Given the description of an element on the screen output the (x, y) to click on. 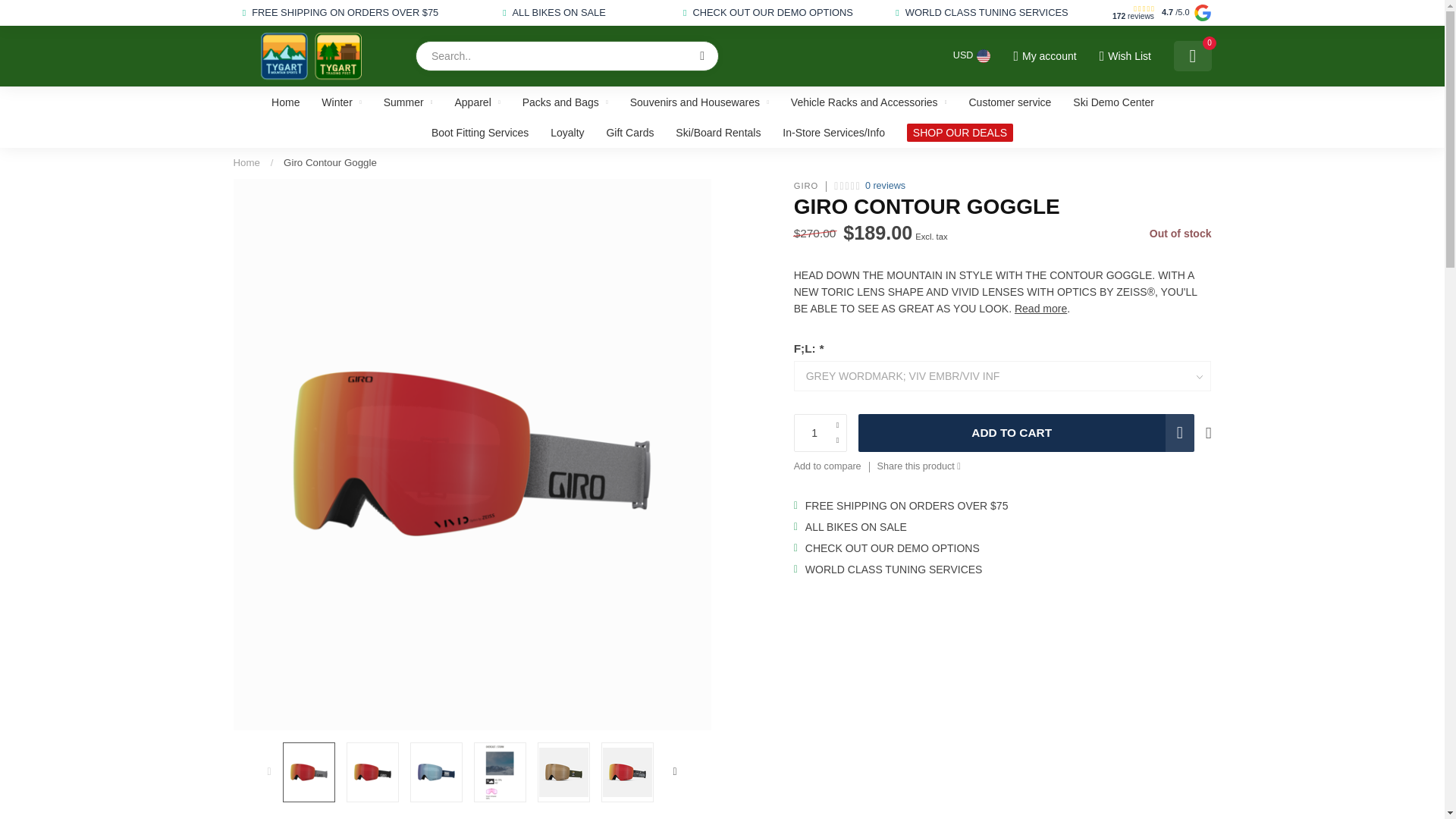
Wish List (1124, 55)
0 (1192, 55)
Home (246, 162)
1 (1060, 244)
My account (1044, 55)
Winter (341, 101)
Home (284, 101)
Wish List (1124, 55)
1 (820, 433)
